Given the description of an element on the screen output the (x, y) to click on. 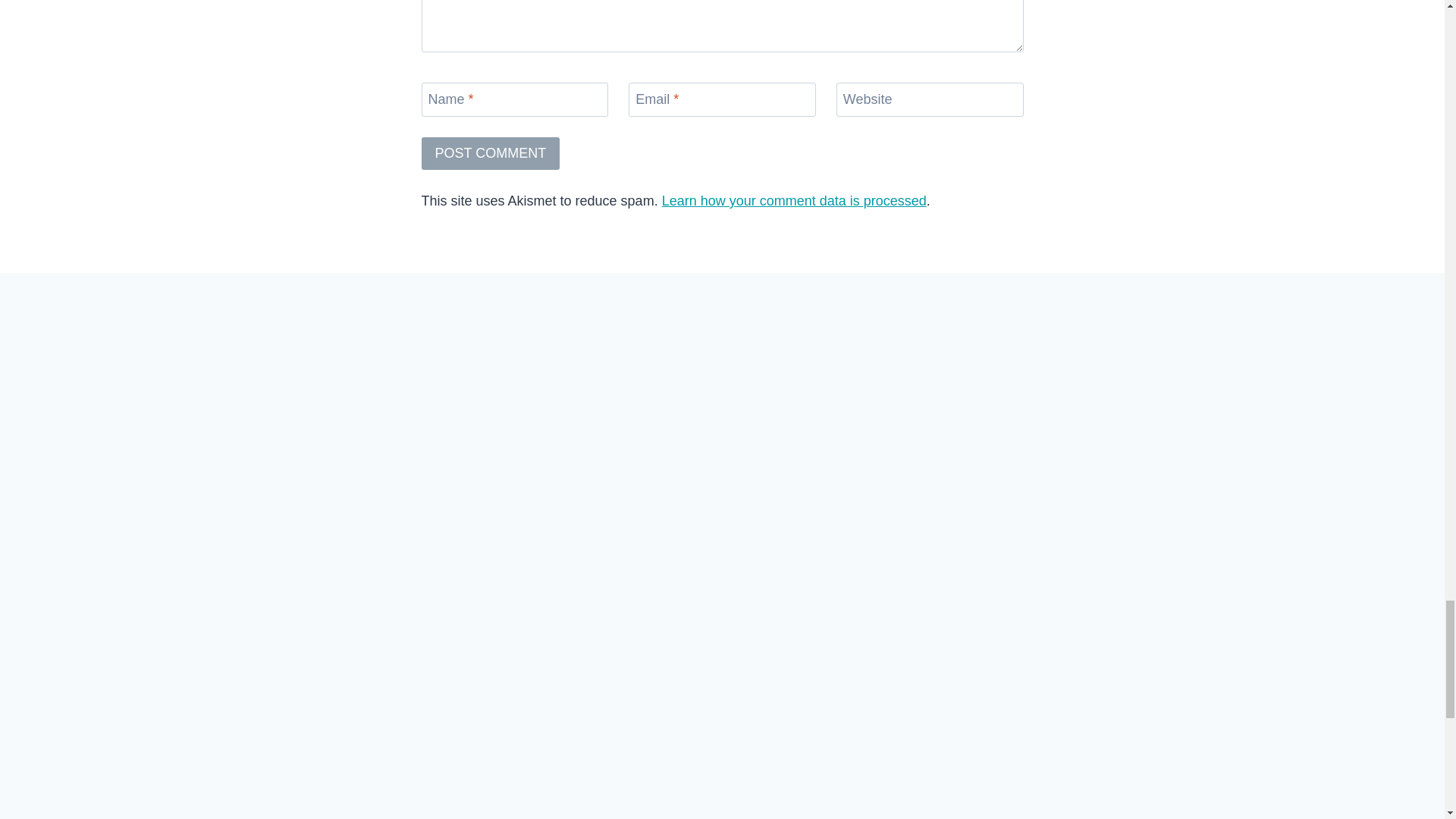
Post Comment (491, 153)
Learn how your comment data is processed (794, 200)
Post Comment (491, 153)
